Given the description of an element on the screen output the (x, y) to click on. 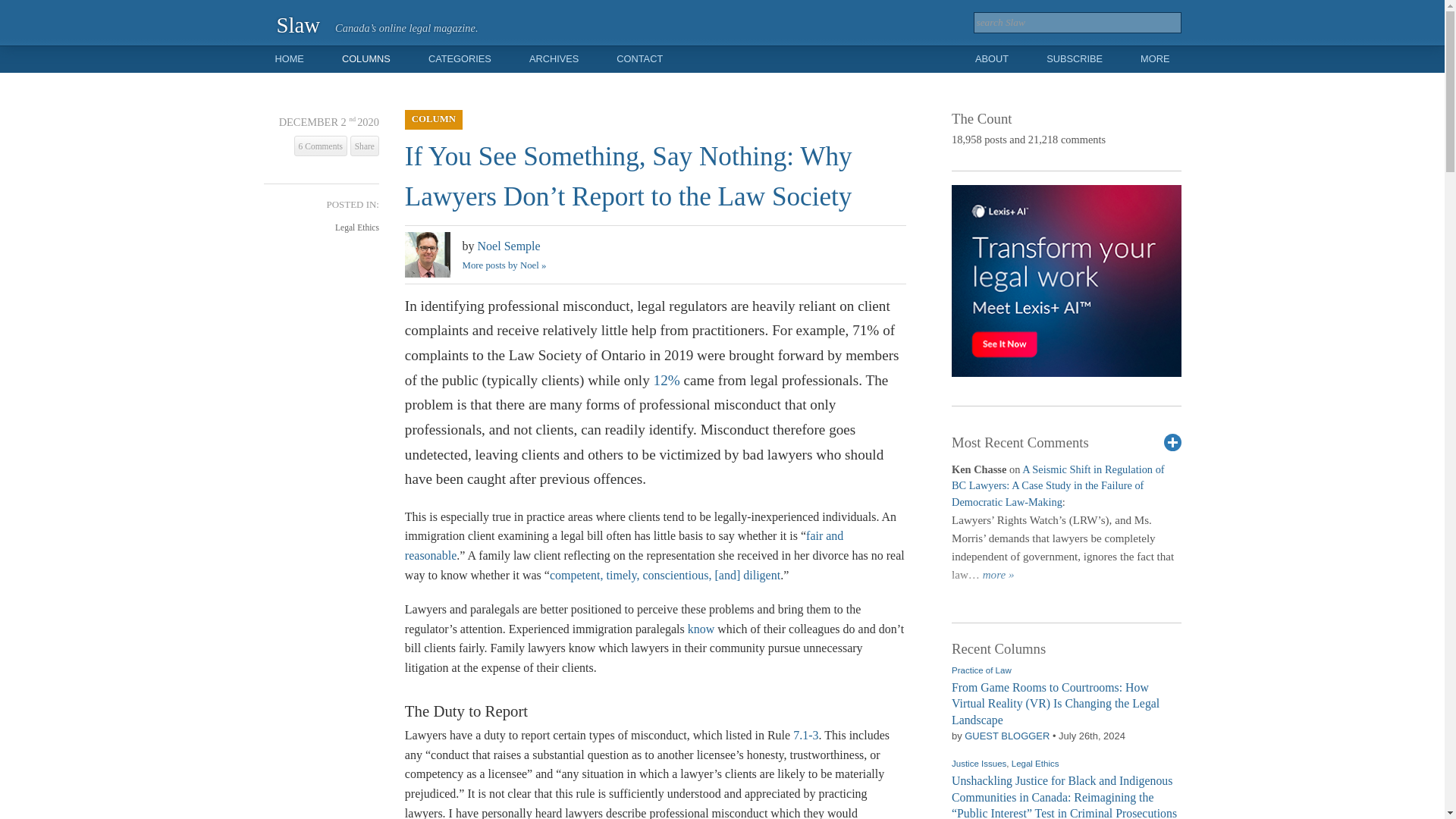
HOME (288, 58)
Posts by Guest Blogger (1006, 736)
COLUMNS (365, 58)
Slaw (298, 23)
Posts by Noel Semple (508, 245)
search Slaw (1077, 22)
